Given the description of an element on the screen output the (x, y) to click on. 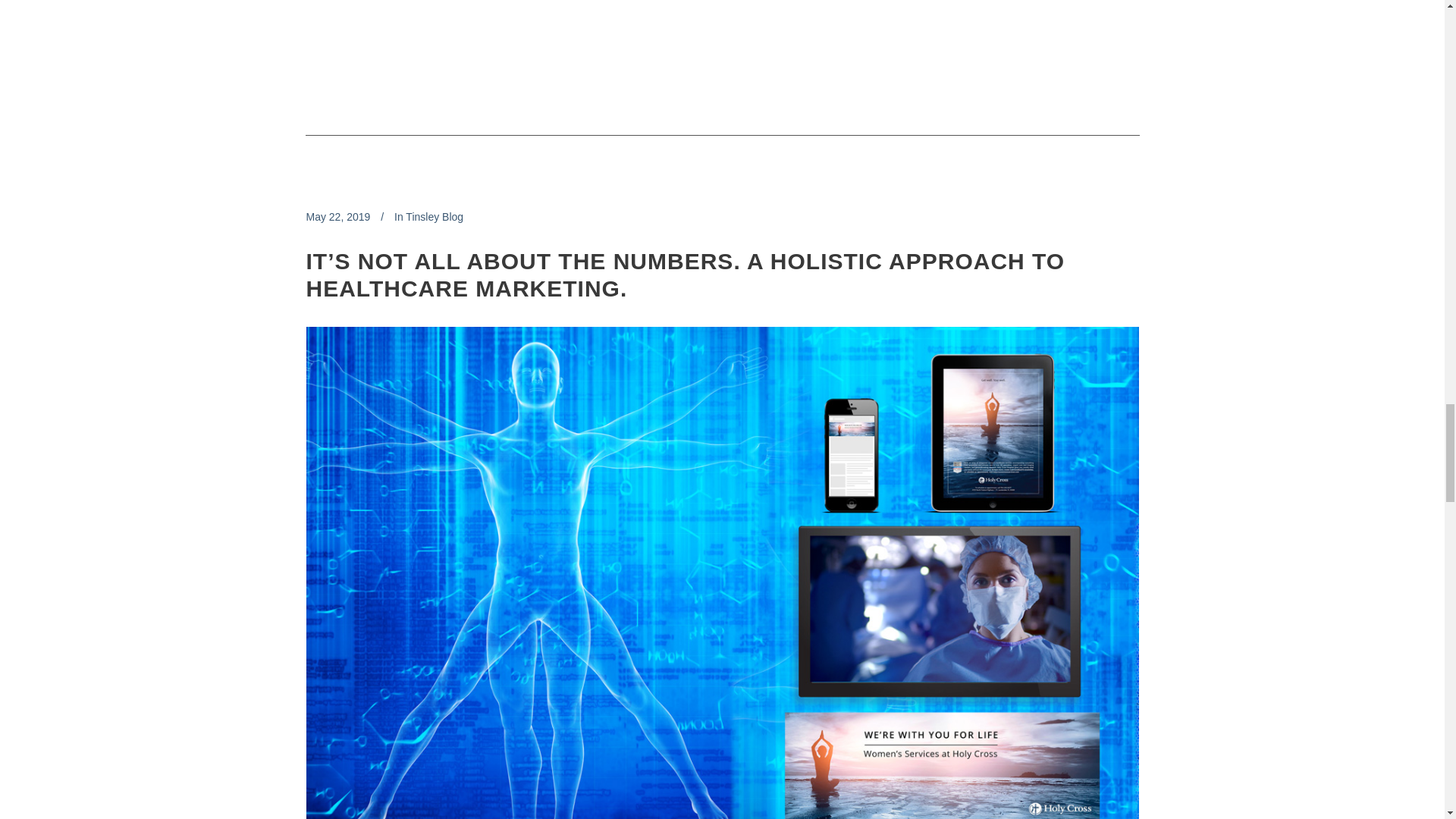
Tinsley Blog (434, 216)
